Given the description of an element on the screen output the (x, y) to click on. 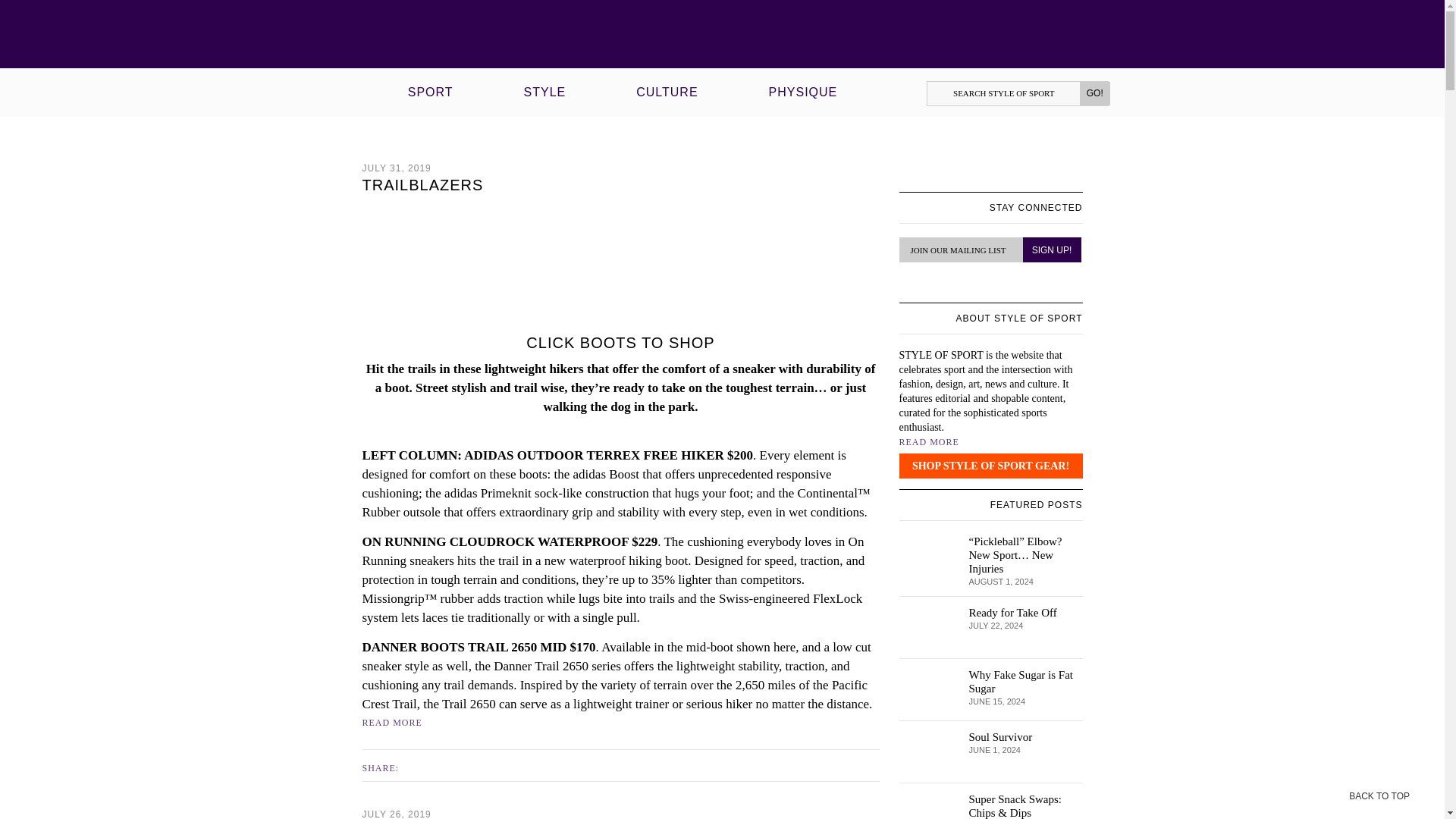
YOUR SUMMER ADVENTURE IS READY TO GO (821, 51)
GO! (1094, 93)
VIEW ALL SPORT POSTS (266, 6)
VIEW ALL STYLE POSTS (267, 24)
FUN IN THE SUN (552, 101)
THE ARCHITECT OF POOL SKATEBOARDING (674, 101)
WILLIE MAYS 1931-2024 (597, 45)
SOWING THE SEEDS (436, 51)
